Given the description of an element on the screen output the (x, y) to click on. 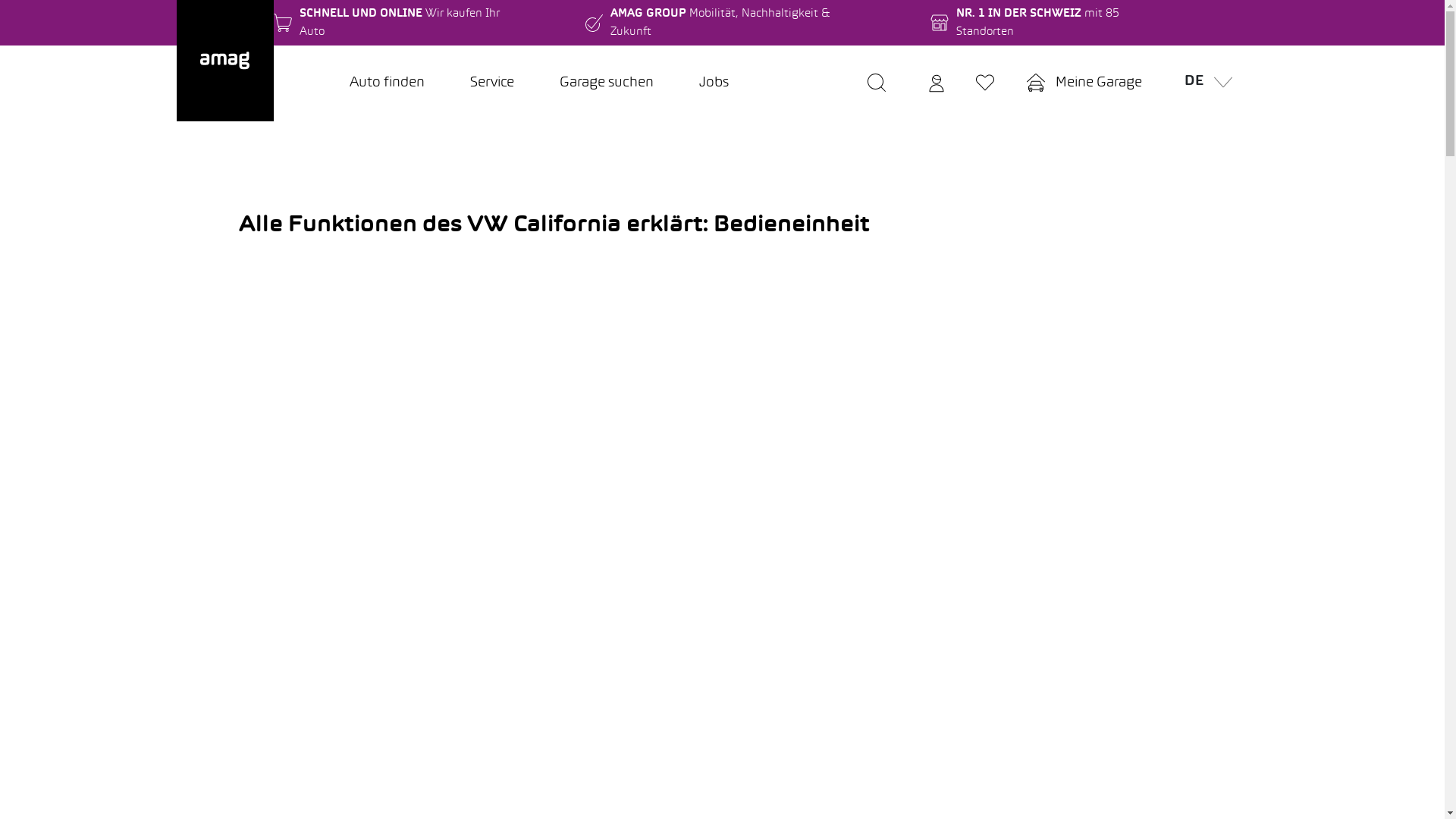
DE Element type: text (1203, 83)
Garage suchen Element type: text (606, 83)
SCHNELL UND ONLINE Wir kaufen Ihr Auto Element type: text (398, 22)
Jobs Element type: text (713, 83)
Service Element type: text (491, 83)
Auto finden Element type: text (386, 83)
NR. 1 IN DER SCHWEIZ mit 85 Standorten Element type: text (1053, 22)
Meine Garage Element type: text (1083, 83)
